Given the description of an element on the screen output the (x, y) to click on. 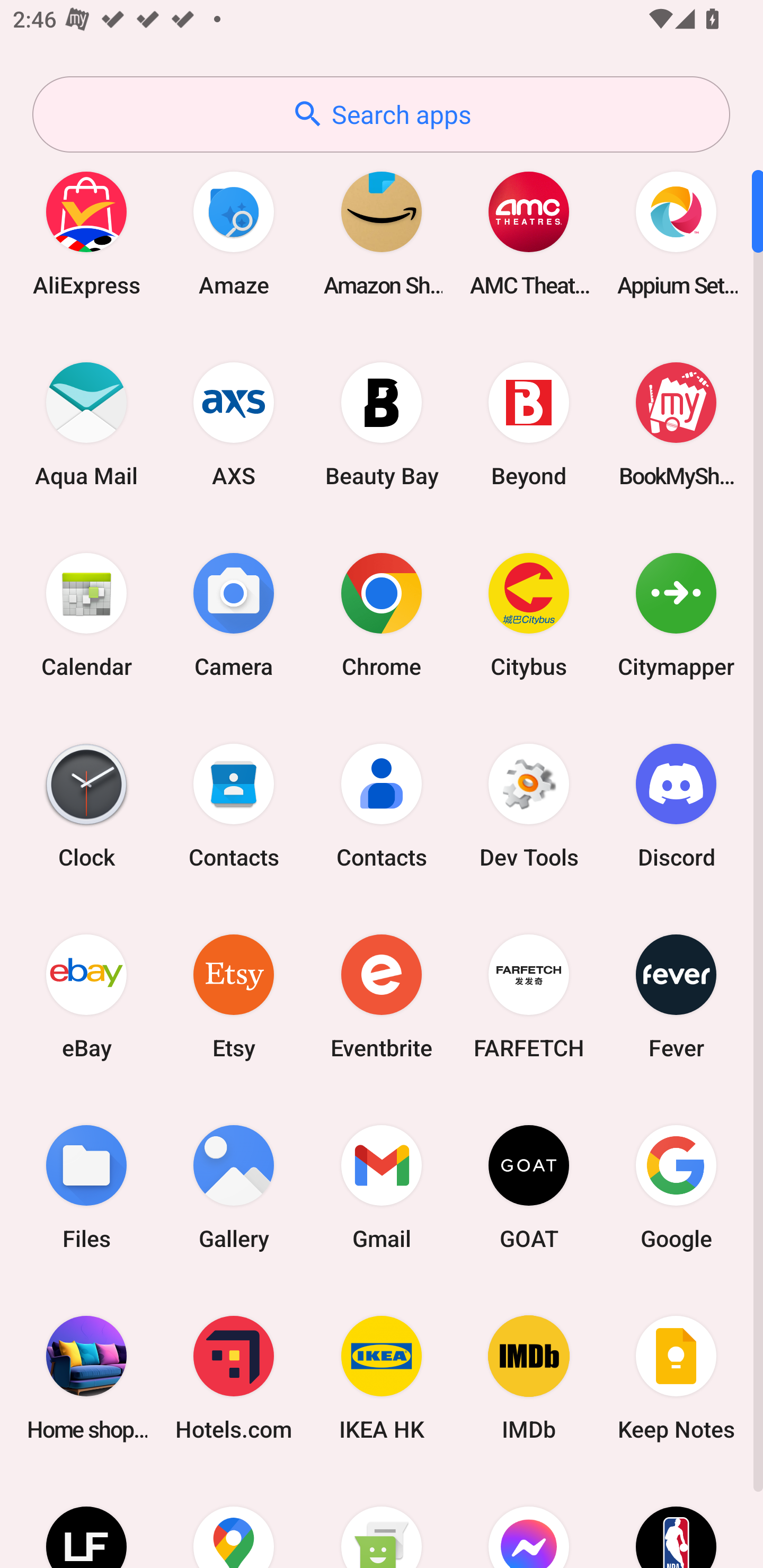
Citymapper (676, 614)
